Given the description of an element on the screen output the (x, y) to click on. 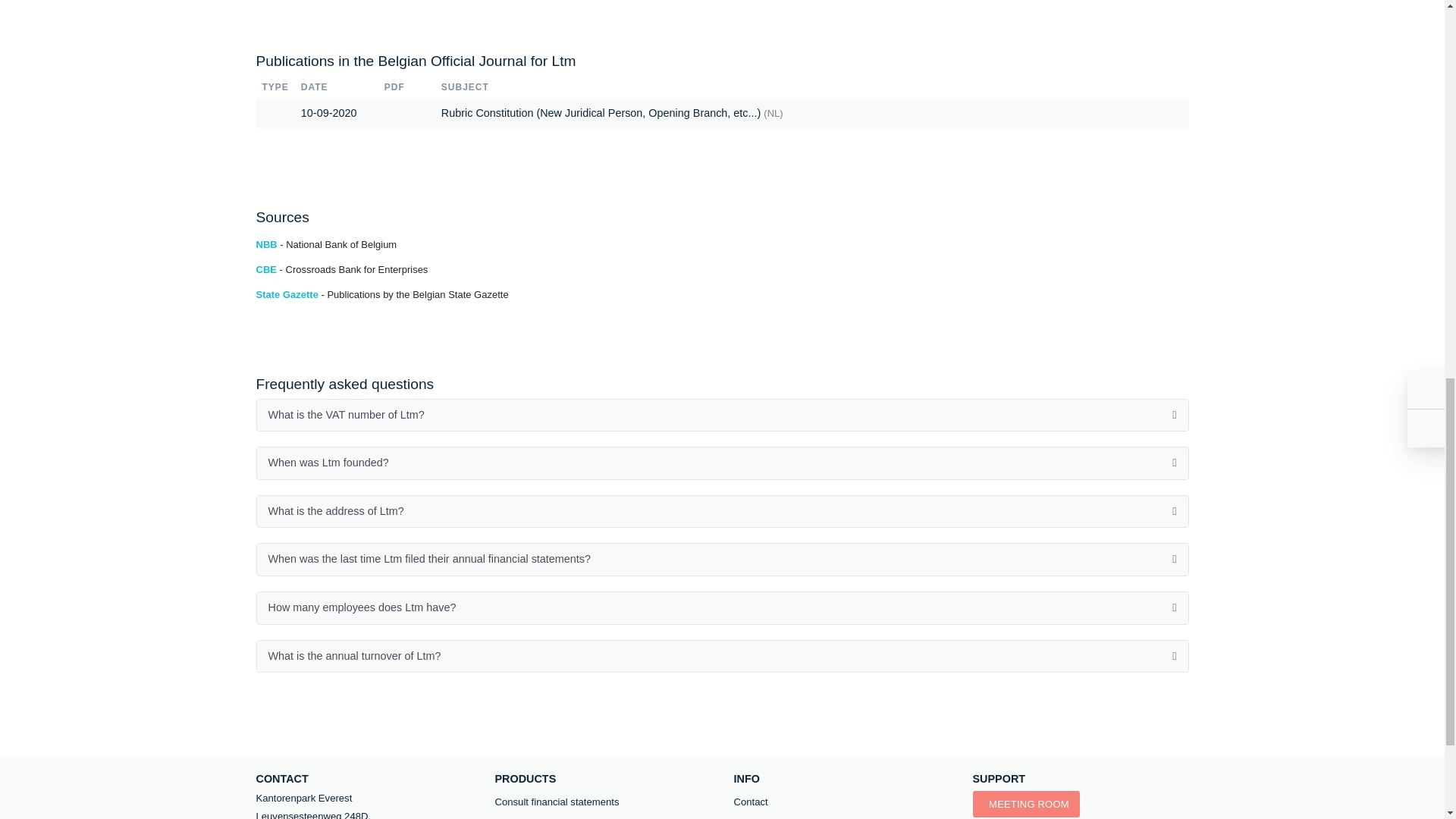
State Gazette - Publications by the Belgian State Gazette (382, 294)
Contact (841, 802)
NBB - National Bank of Belgium (326, 244)
Offer (602, 817)
Consult financial statements (602, 802)
  MEETING ROOM (1025, 804)
CBE - Crossroads Bank for Enterprises (342, 269)
Privacy (841, 817)
